Given the description of an element on the screen output the (x, y) to click on. 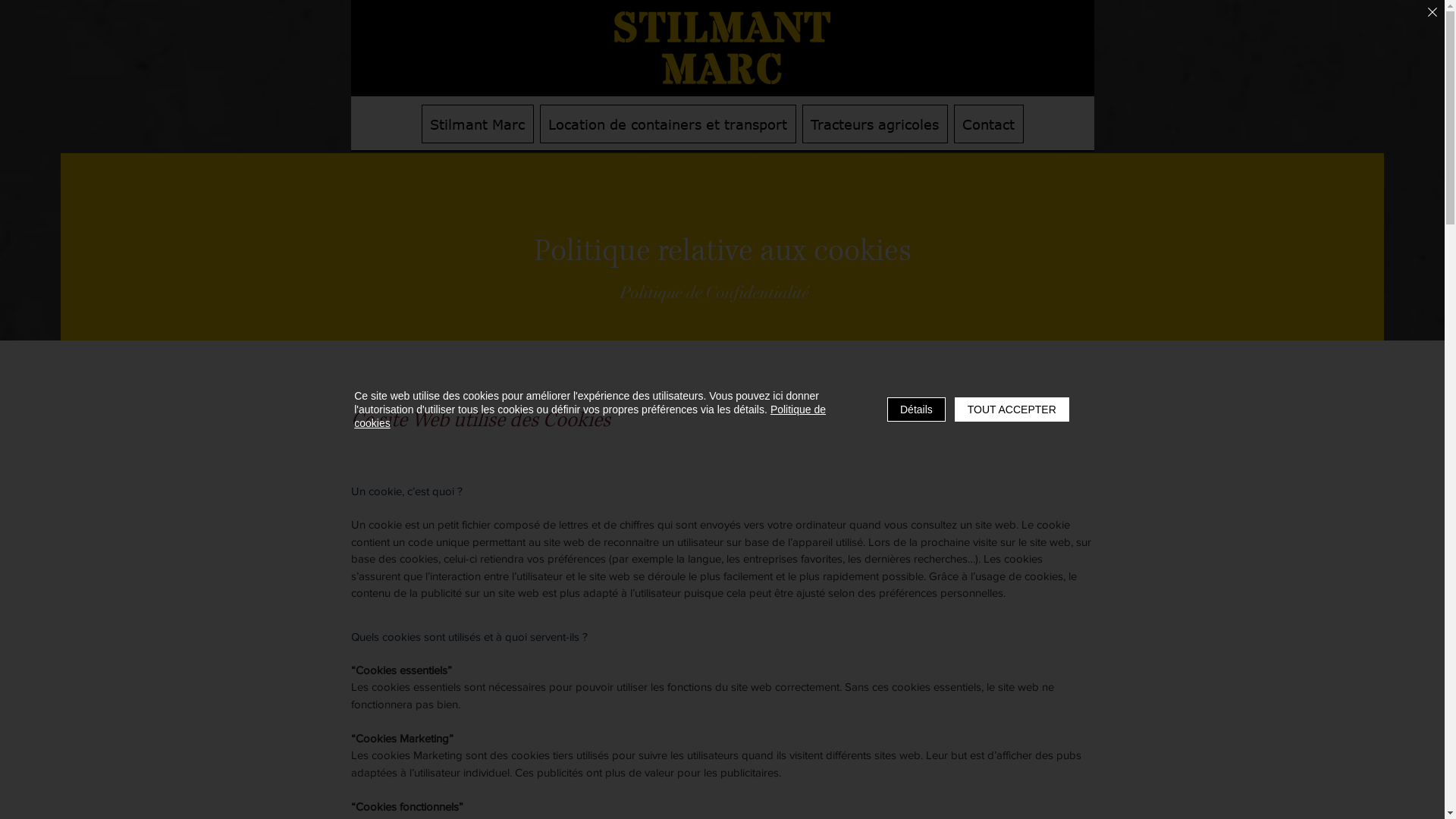
Politique de cookies Element type: text (589, 416)
Tracteurs agricoles Element type: text (874, 123)
TOUT ACCEPTER Element type: text (1011, 409)
Location de containers et transport Element type: text (667, 123)
Stilmant Marc Element type: hover (722, 47)
Stilmant Marc Element type: text (477, 123)
Contact Element type: text (988, 123)
